Given the description of an element on the screen output the (x, y) to click on. 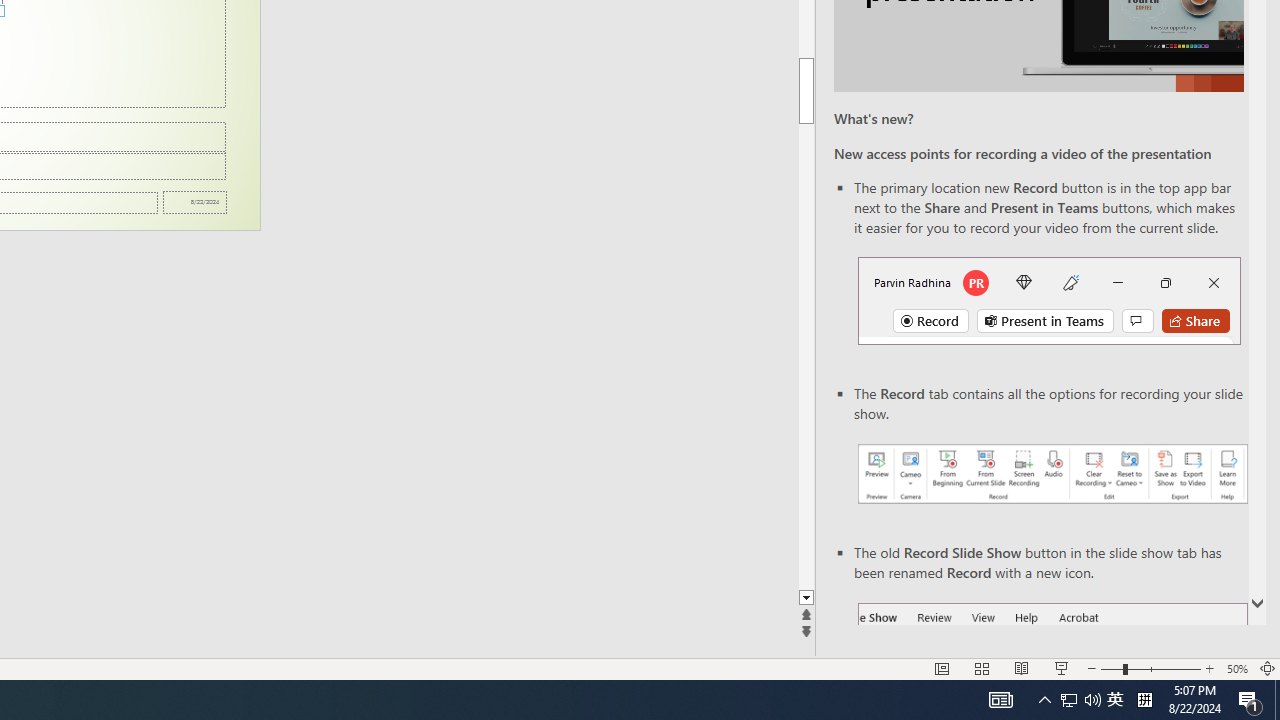
Line down (806, 597)
Page down (806, 356)
Date (194, 201)
Record button in top bar (1049, 300)
Record your presentations screenshot one (1052, 473)
